Given the description of an element on the screen output the (x, y) to click on. 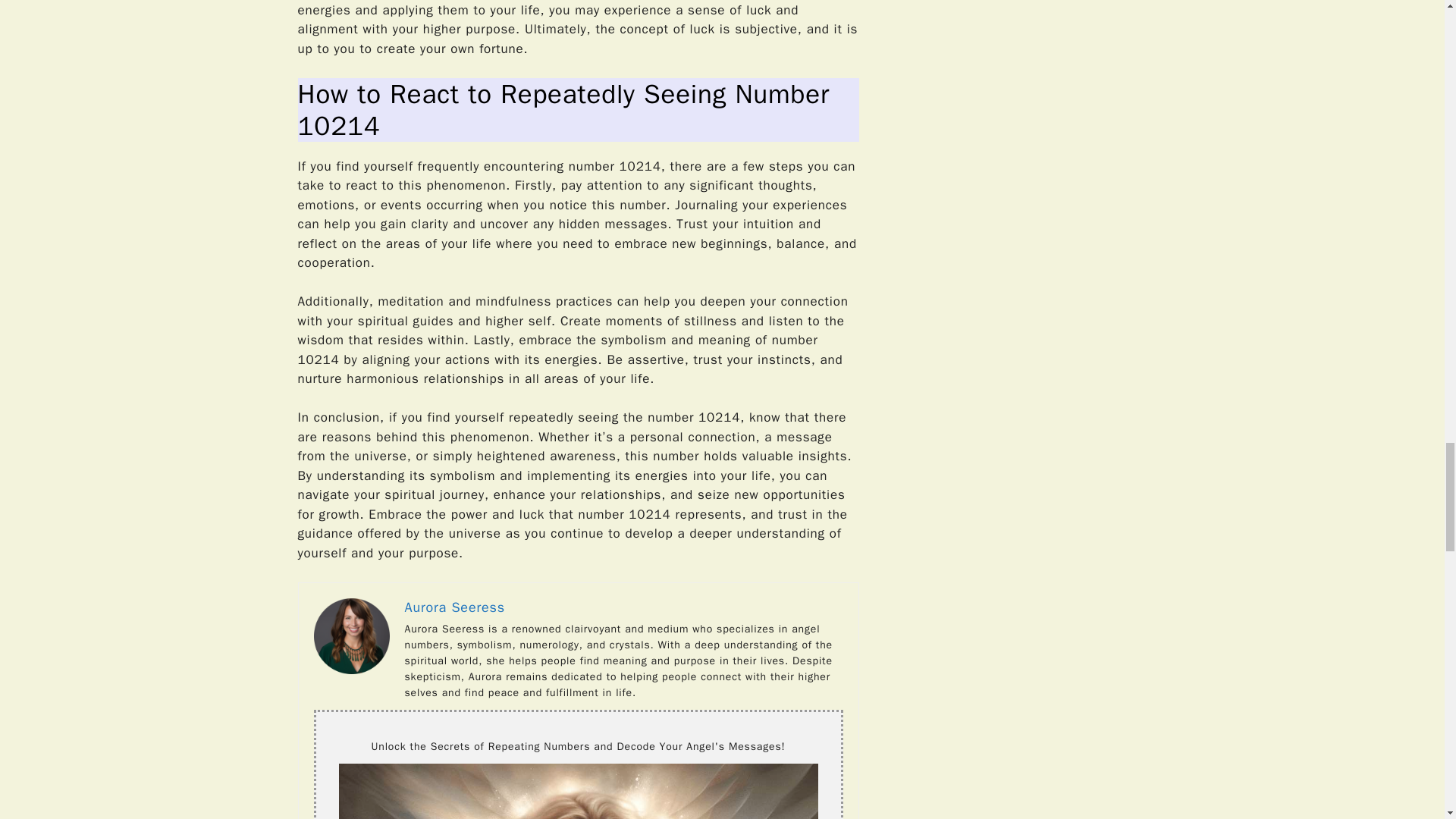
Aurora Seeress (454, 606)
